Given the description of an element on the screen output the (x, y) to click on. 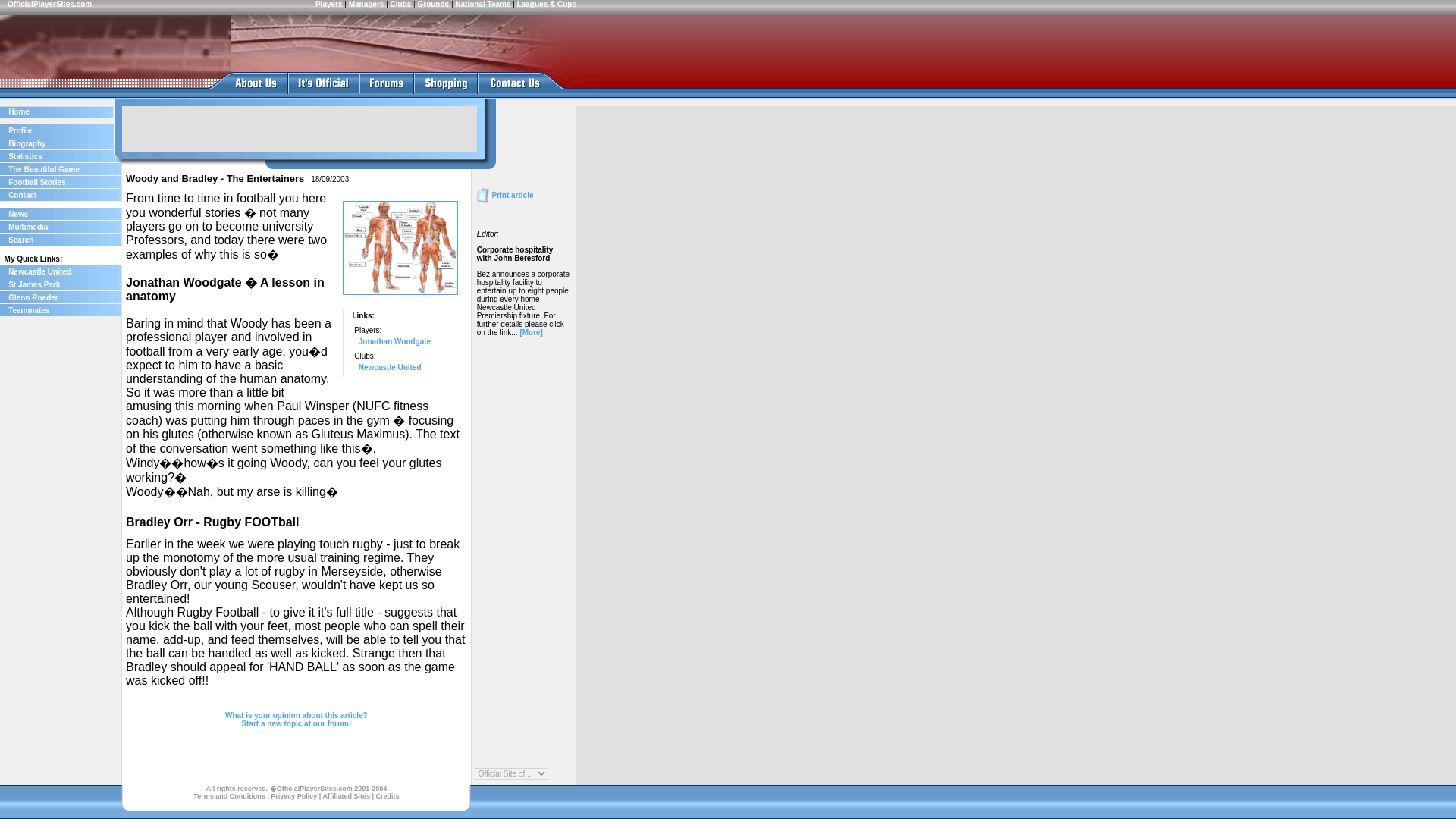
Statistics (25, 156)
Multimedia (28, 226)
Grounds (432, 4)
Home (18, 111)
The Beautiful Game (44, 169)
Teammates (28, 310)
Glenn Roeder (33, 297)
Credits (386, 796)
Affiliated Sites (347, 796)
Biography (26, 143)
All rights reserved. (236, 788)
Profile (20, 130)
National Teams (482, 4)
Terms and Conditions (228, 796)
Jonathan Woodgate (394, 341)
